Given the description of an element on the screen output the (x, y) to click on. 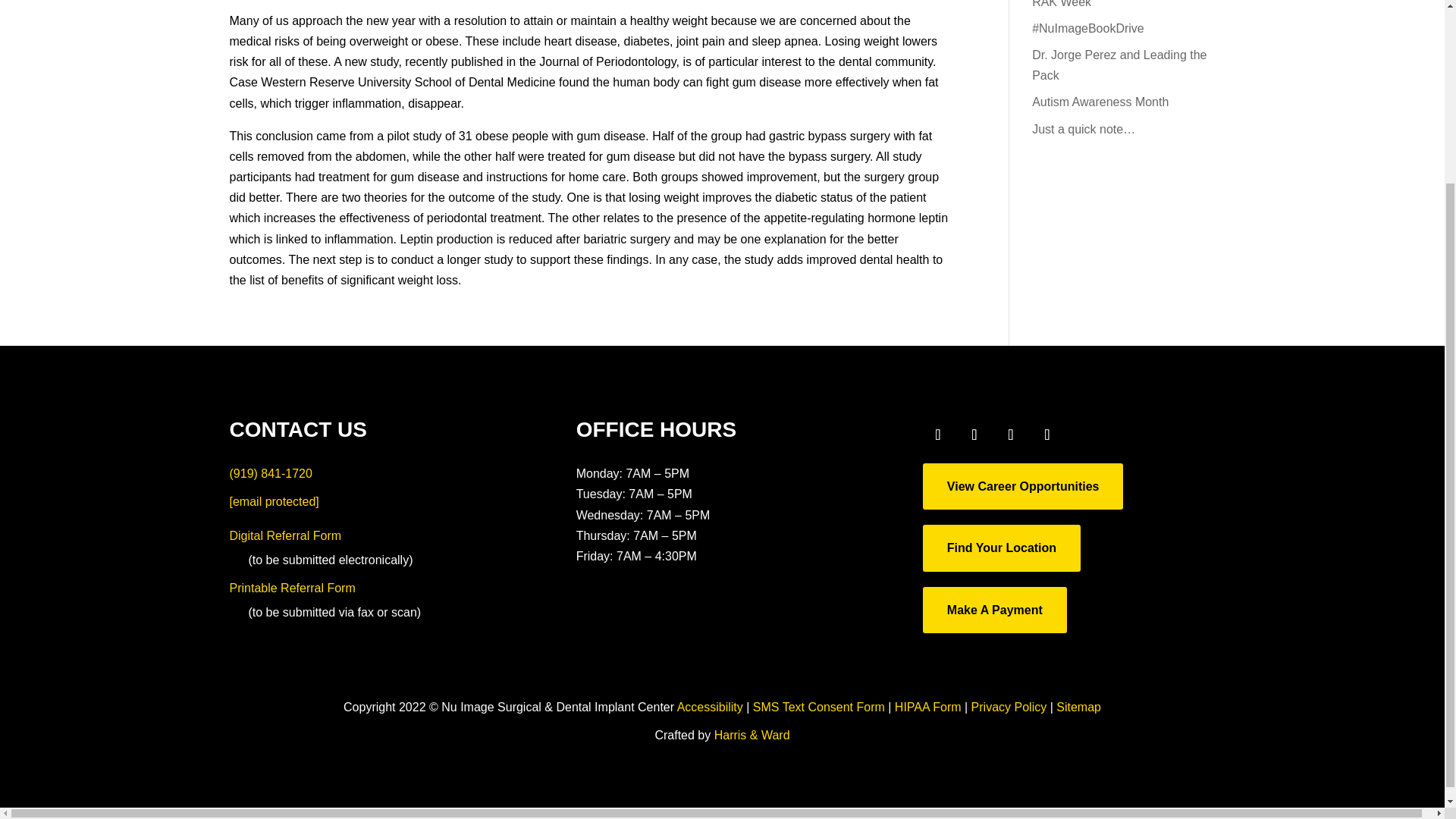
Follow on Pinterest (1083, 434)
Follow on LinkedIn (1047, 434)
Follow on Facebook (938, 434)
Follow on Instagram (974, 434)
Follow on Youtube (1010, 434)
